Given the description of an element on the screen output the (x, y) to click on. 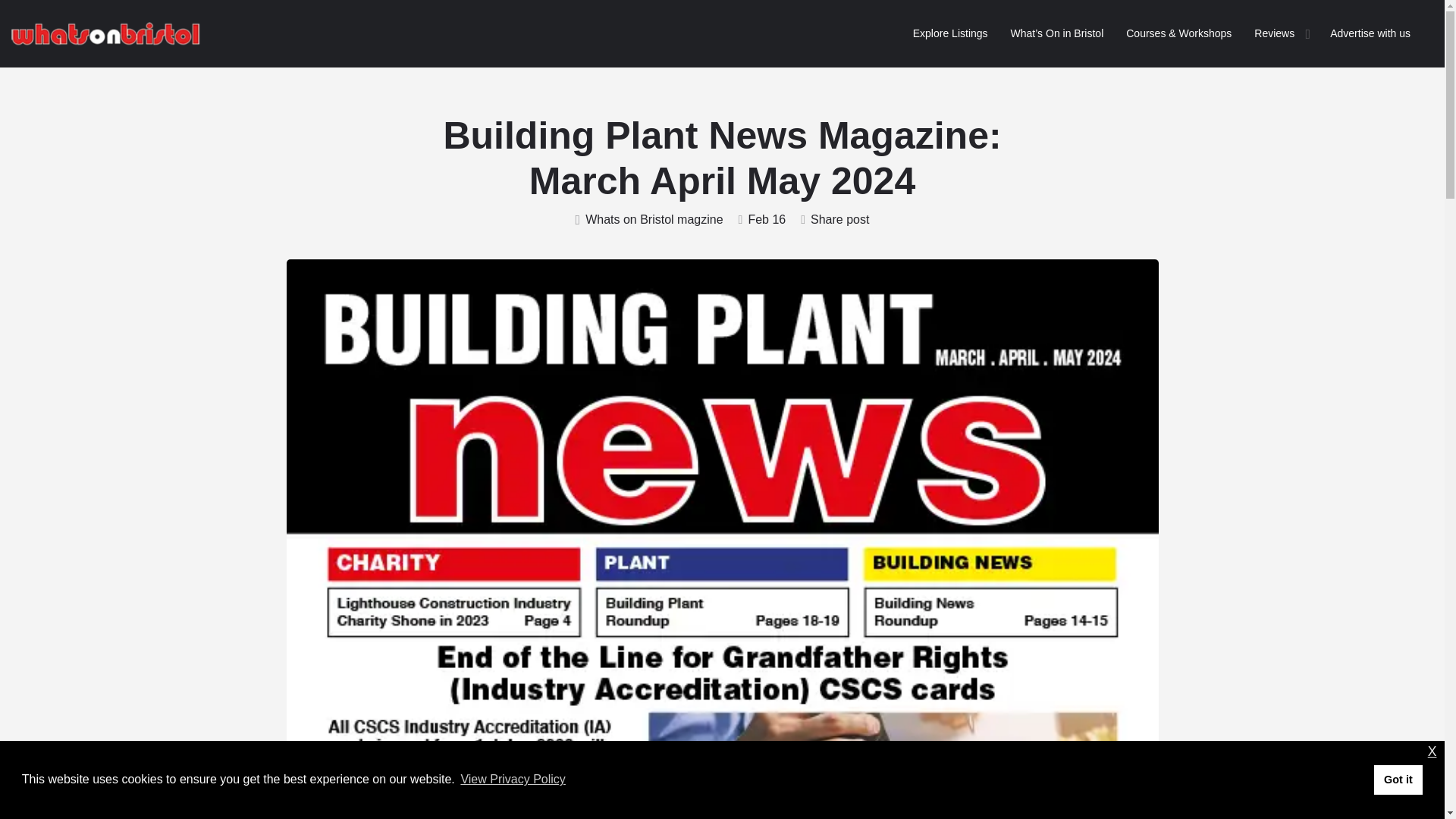
Reviews (1273, 32)
Advertise with us (1370, 32)
Explore Listings (950, 32)
Whats on Bristol magzine (649, 220)
Share post (834, 220)
